Given the description of an element on the screen output the (x, y) to click on. 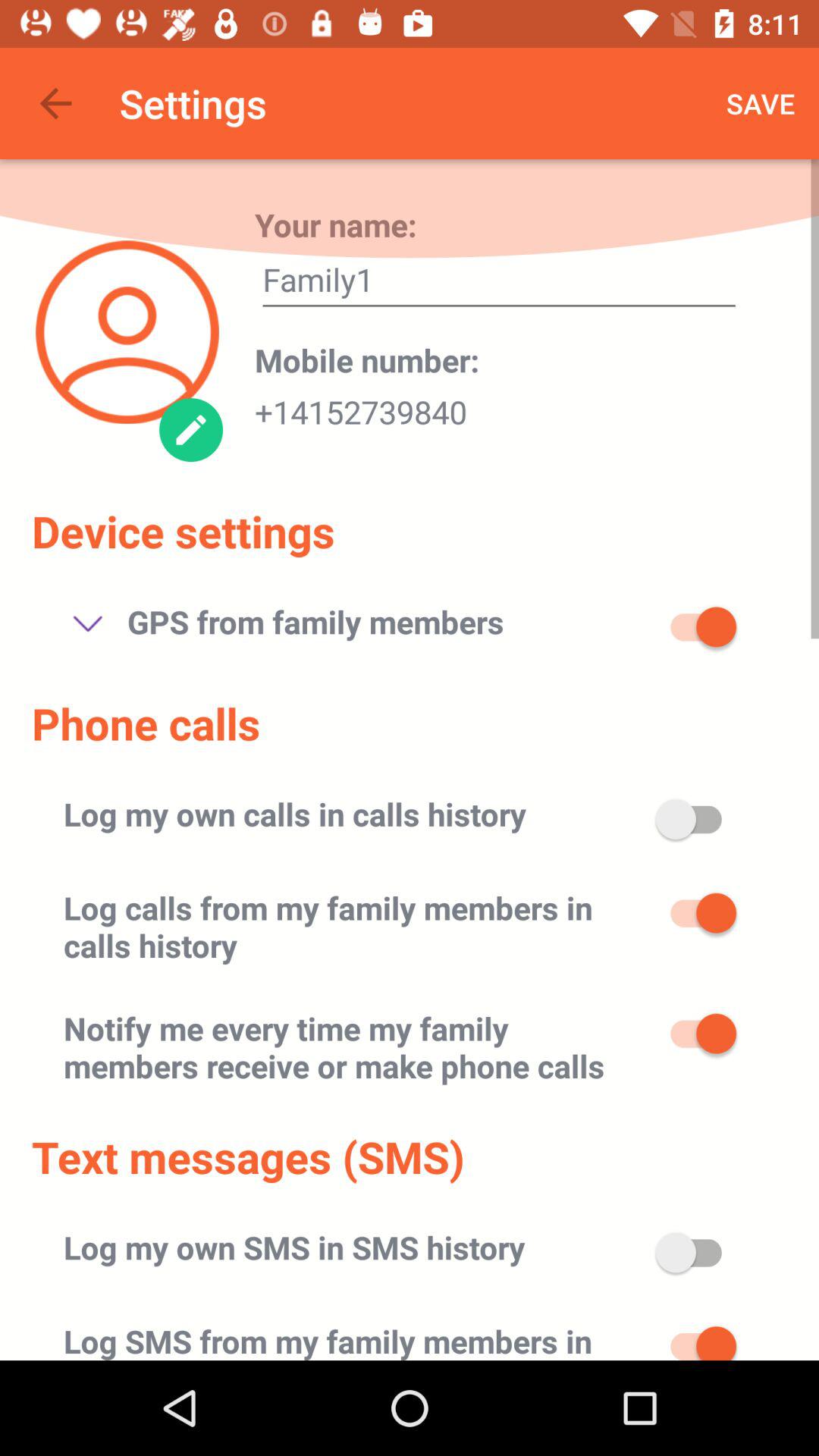
scroll to the mobile number: (366, 359)
